Given the description of an element on the screen output the (x, y) to click on. 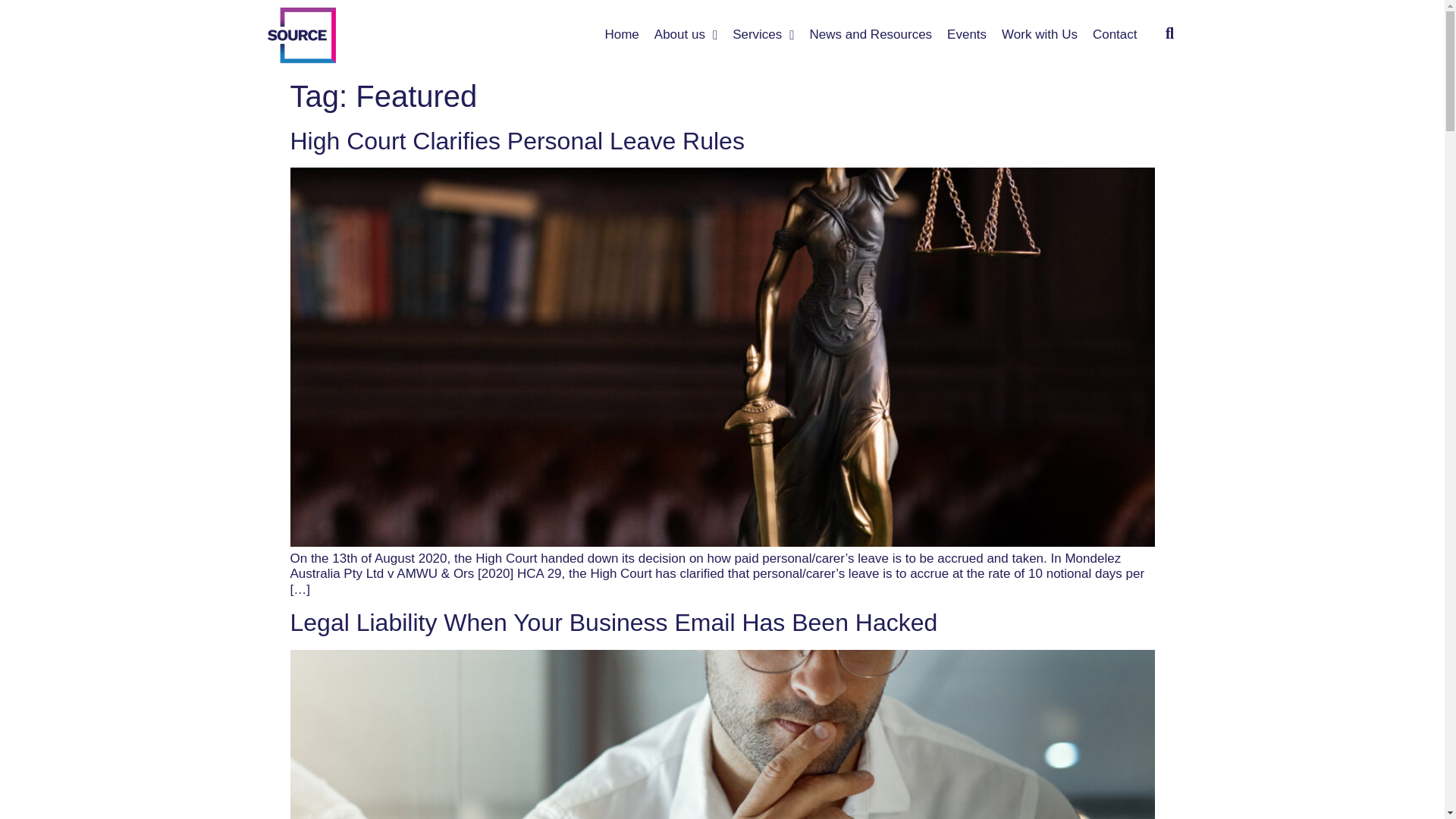
About us (685, 35)
Home (621, 35)
Services (763, 35)
